Given the description of an element on the screen output the (x, y) to click on. 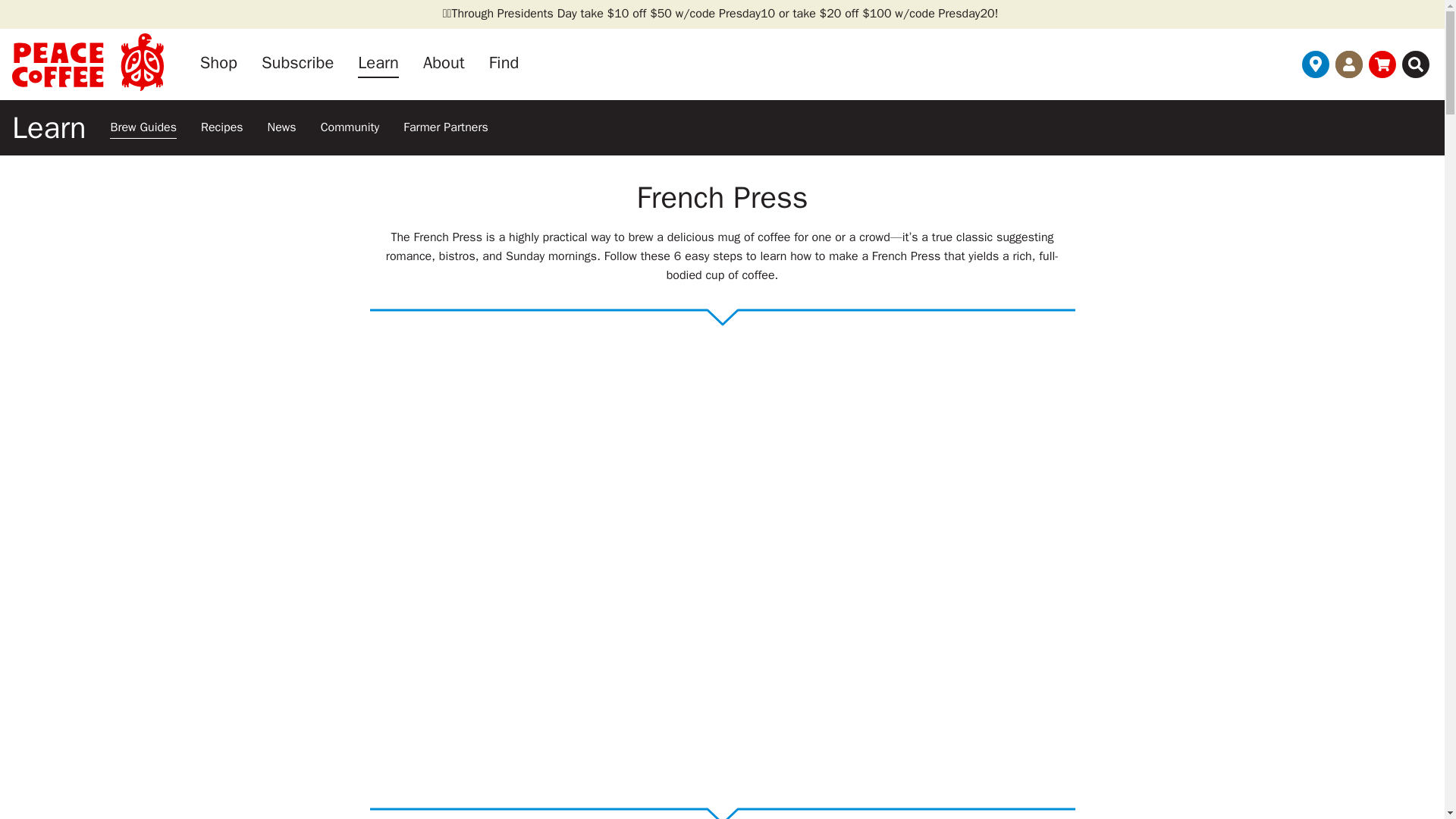
Store Locator (1315, 63)
About (443, 64)
Cart (1382, 63)
Learn (48, 126)
Recipes (222, 127)
Search (1415, 63)
Learn (378, 64)
Brew Guides (143, 127)
Account (1348, 63)
Shop (217, 64)
Subscribe (297, 64)
Find (504, 64)
